Given the description of an element on the screen output the (x, y) to click on. 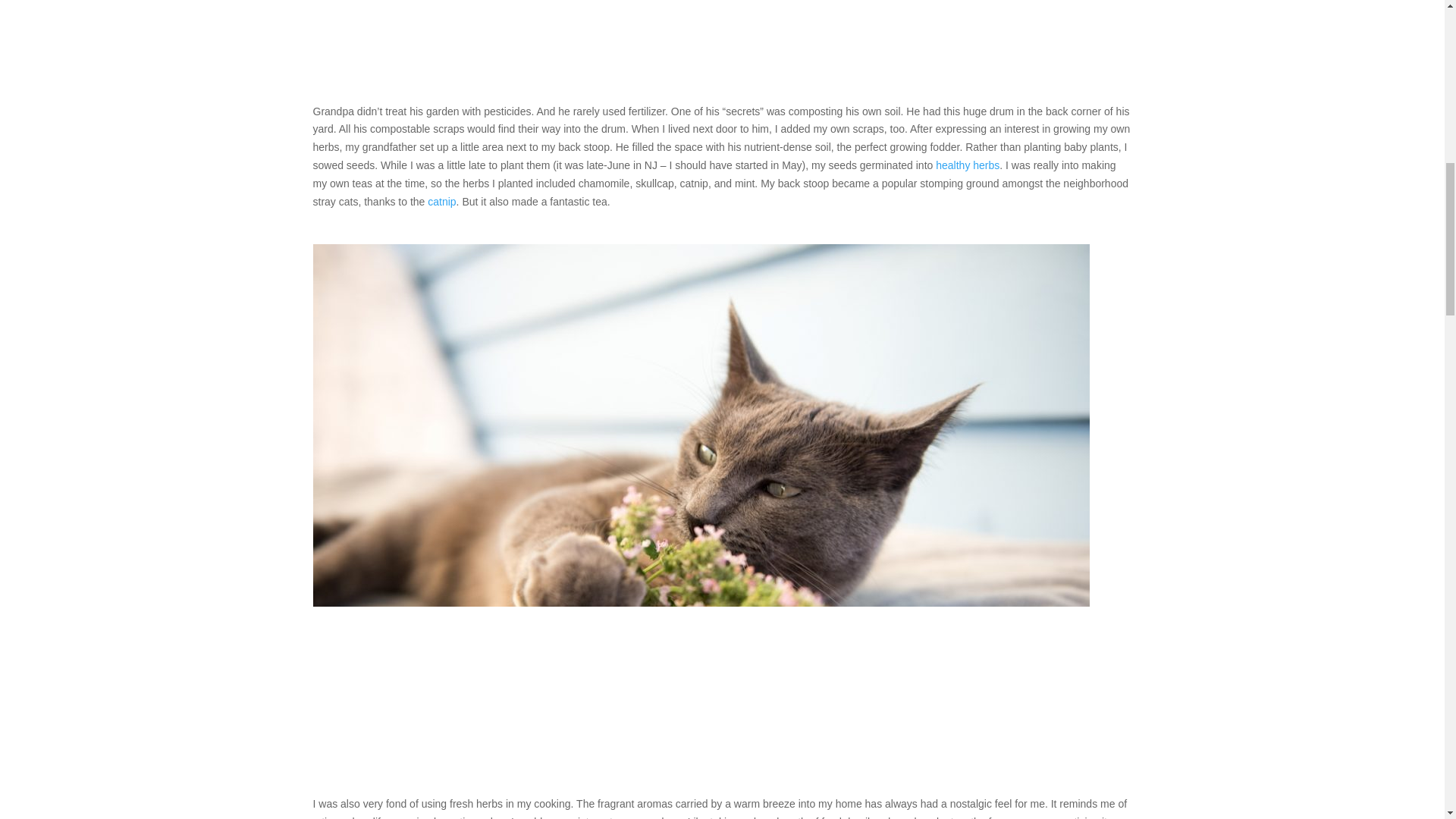
healthy herbs (967, 164)
catnip (441, 201)
